Given the description of an element on the screen output the (x, y) to click on. 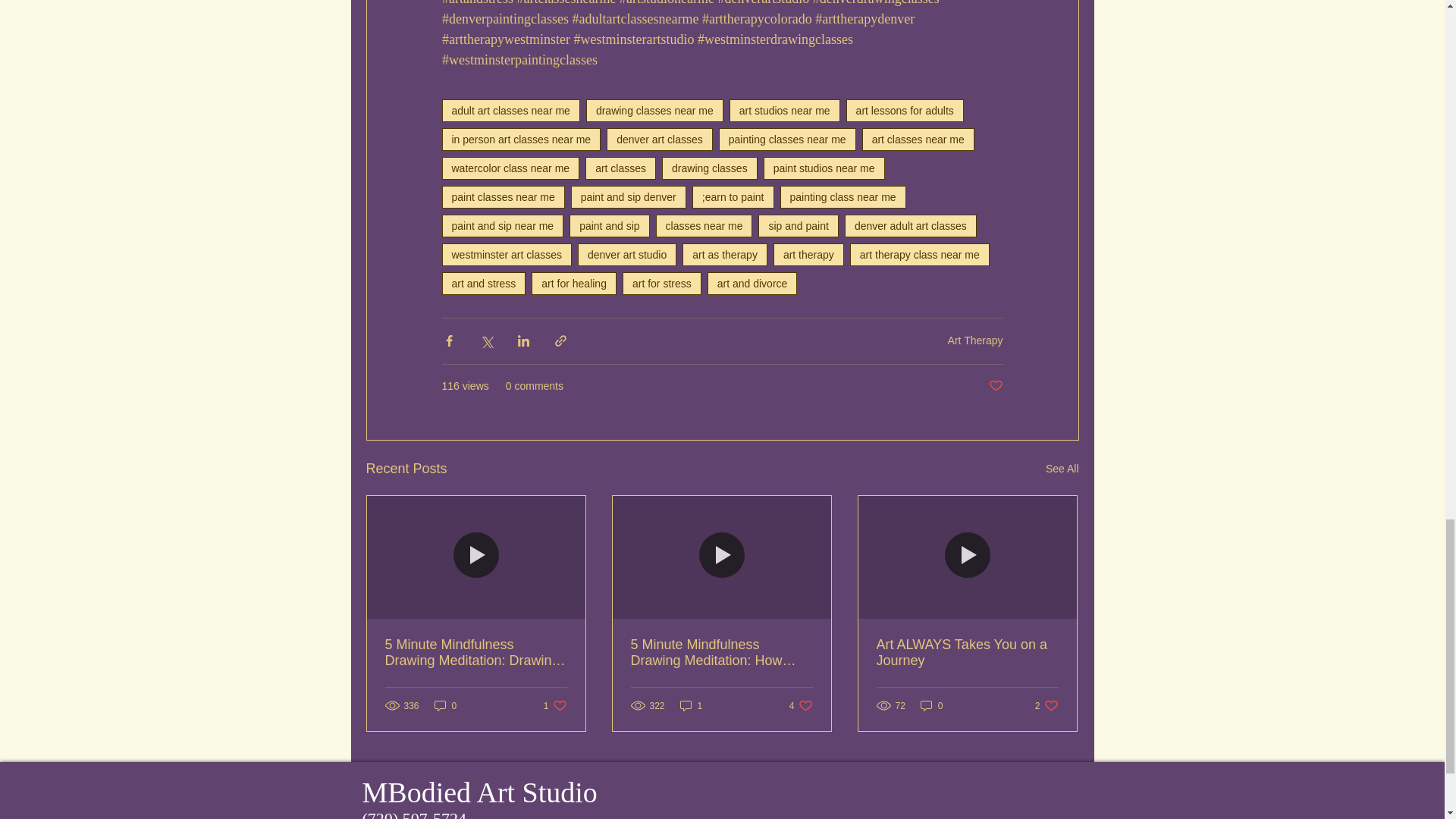
adult art classes near me (510, 110)
art classes (620, 168)
art classes near me (917, 138)
paint studios near me (823, 168)
drawing classes (709, 168)
painting classes near me (787, 138)
watercolor class near me (510, 168)
denver art classes (660, 138)
art lessons for adults (904, 110)
drawing classes near me (654, 110)
